Given the description of an element on the screen output the (x, y) to click on. 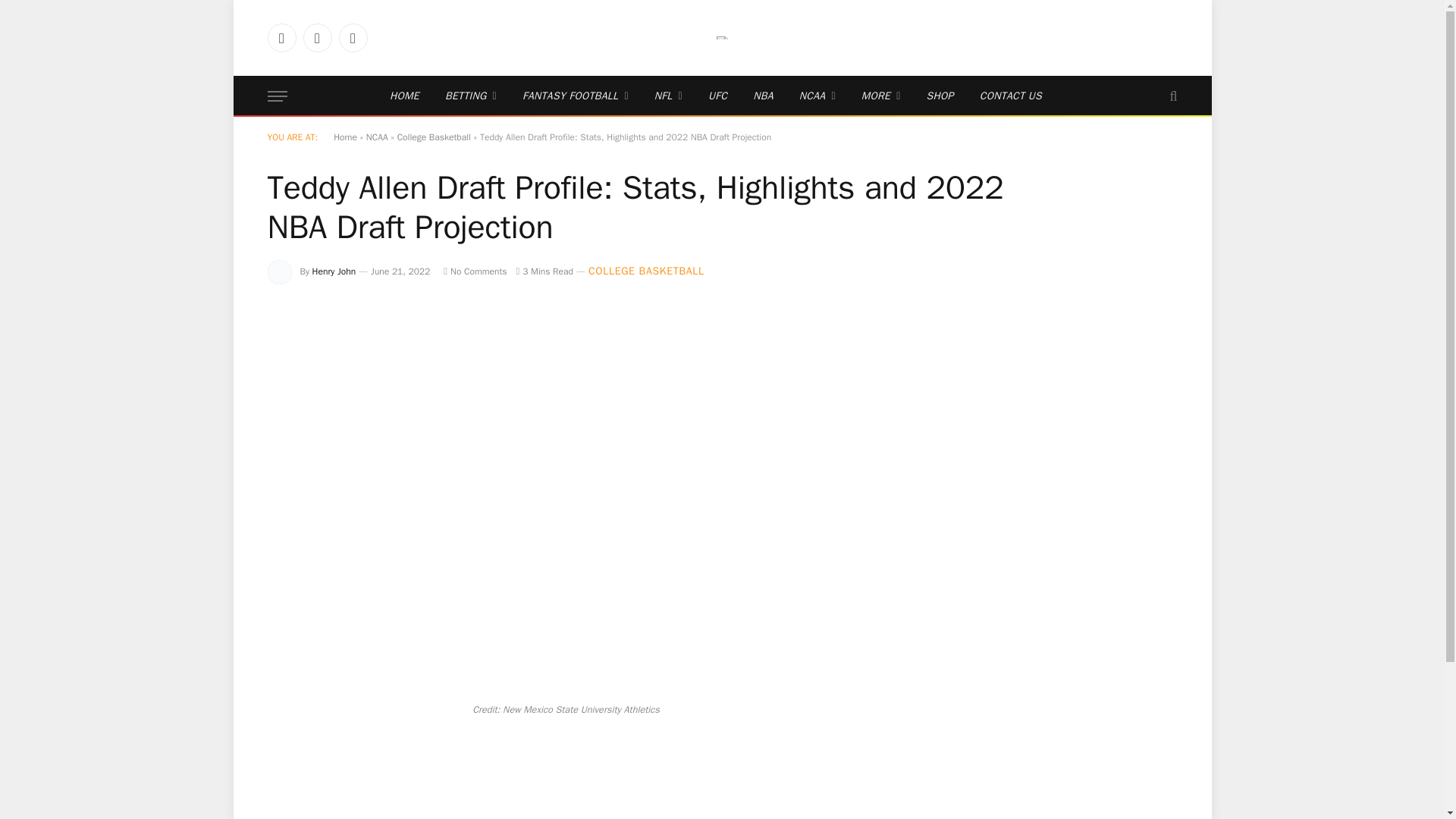
Instagram (351, 37)
BETTING (470, 95)
UFC (717, 95)
CONTACT US (1010, 95)
MORE (881, 95)
NFL (668, 95)
Posts by Henry John (334, 271)
SHOP (940, 95)
FANTASY FOOTBALL (575, 95)
NCAA (817, 95)
NBA (762, 95)
Facebook (280, 37)
HOME (404, 95)
